Given the description of an element on the screen output the (x, y) to click on. 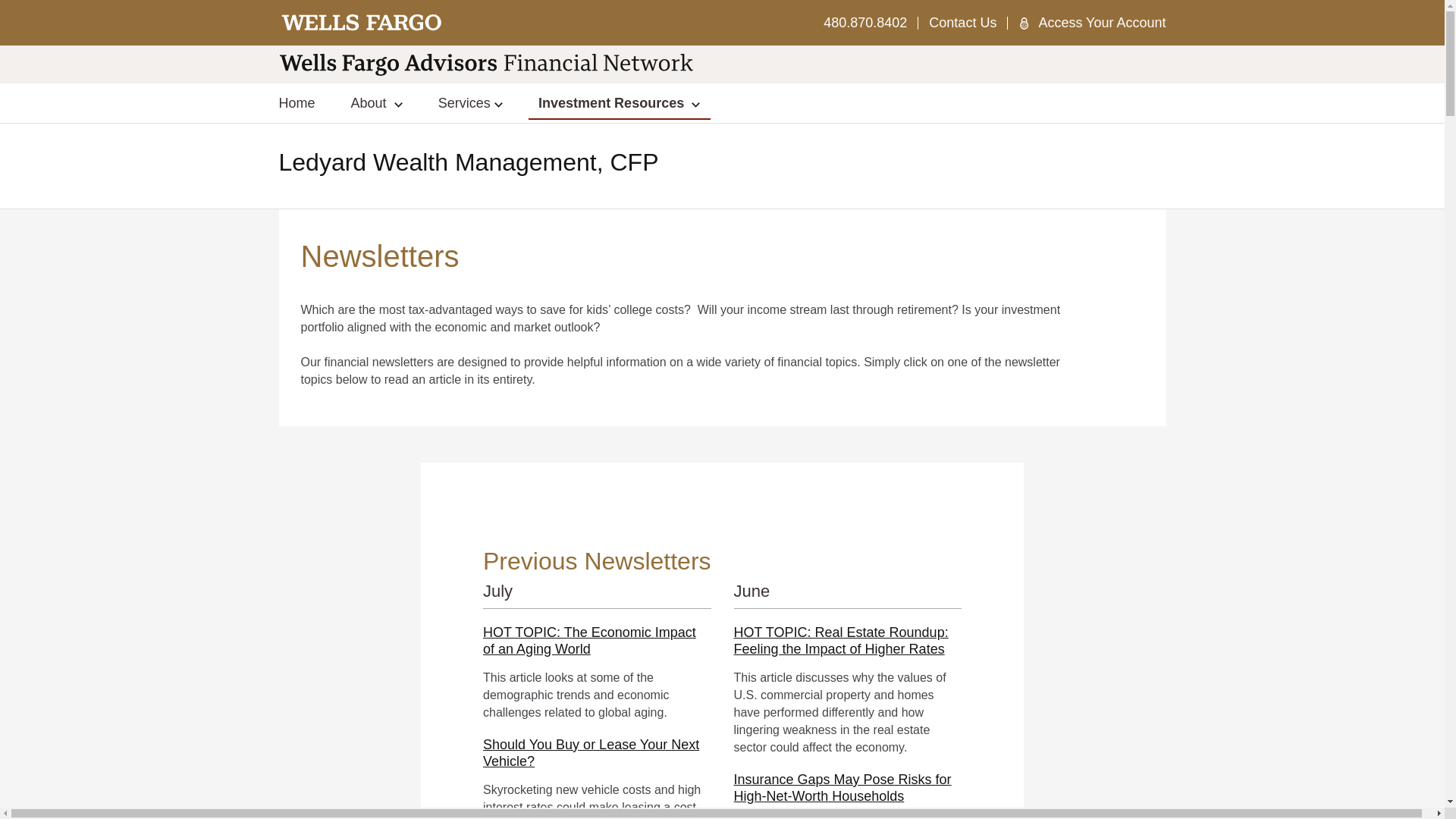
Access Your Account (1102, 22)
View the Should You Buy or Lease Your Next Vehicle? (590, 753)
About (376, 102)
480.870.8402 (865, 22)
Home (297, 102)
View the HOT TOPIC: The Economic Impact of an Aging World (589, 640)
Wells Fargo Advisors Home (362, 22)
Investment Resources (619, 102)
